Given the description of an element on the screen output the (x, y) to click on. 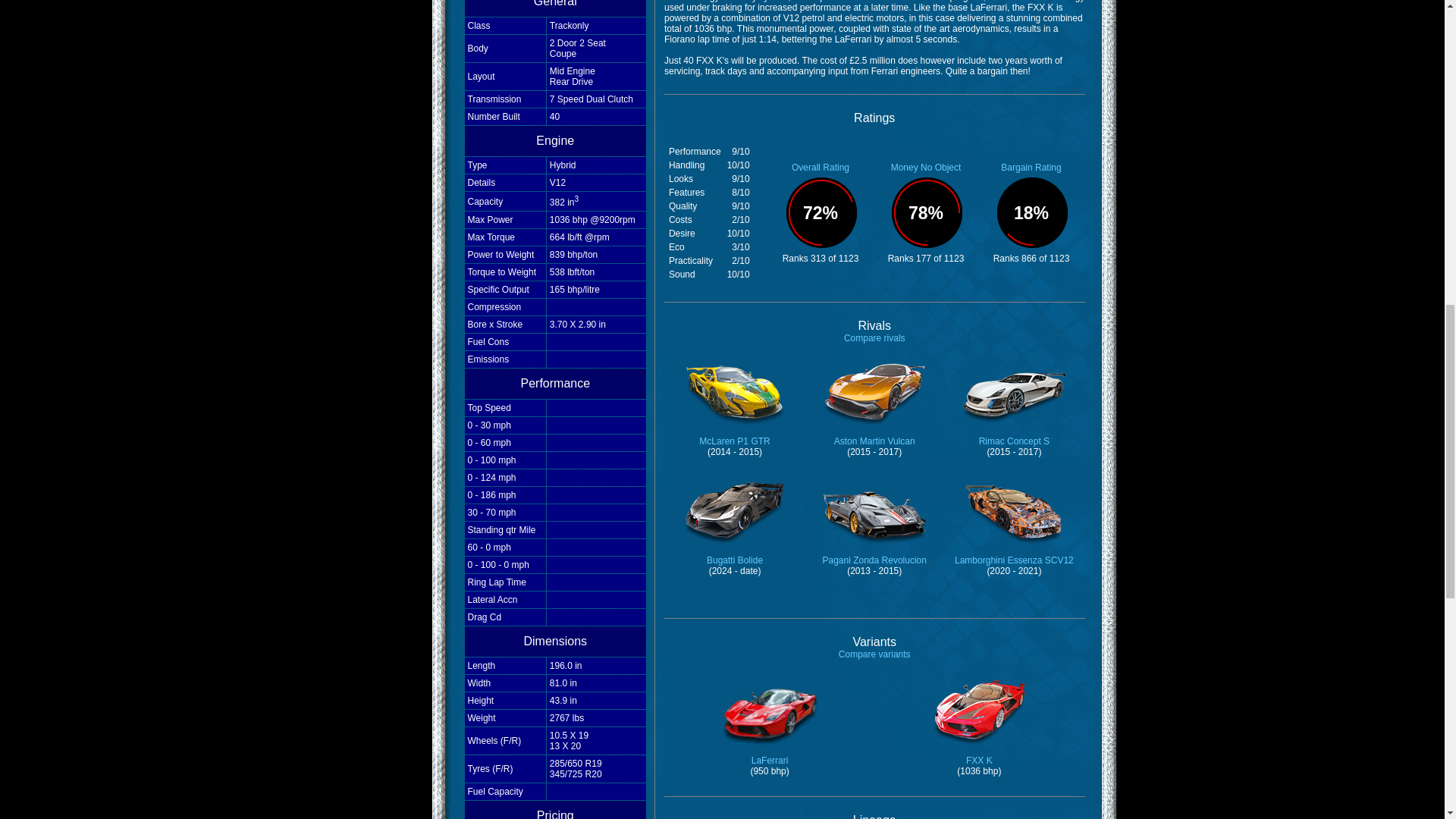
Lamborghini Essenza SCV12 (1014, 550)
Overall Rating (820, 167)
McLaren P1 GTR (734, 431)
Aston Martin Vulcan (875, 431)
Bargain Rating (1031, 167)
FXX K (979, 750)
Advertisement (374, 18)
Rimac Concept S (1013, 431)
Compare variants (874, 654)
LaFerrari (769, 750)
Pagani Zonda Revolucion (874, 550)
Bugatti Bolide (734, 550)
Compare rivals (874, 337)
Money No Object (925, 167)
